Given the description of an element on the screen output the (x, y) to click on. 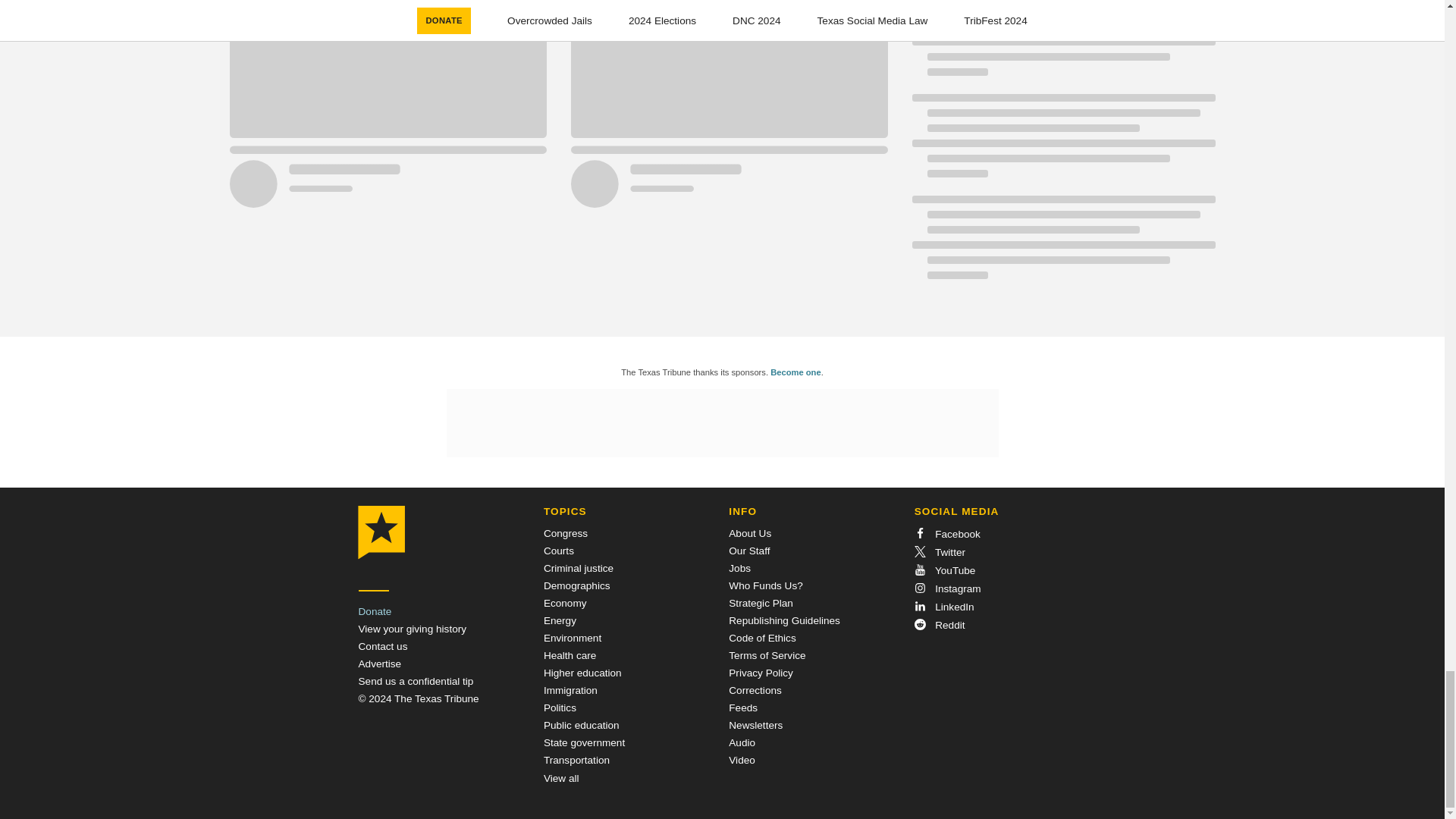
About Us (750, 532)
Feeds (743, 707)
Code of Ethics (761, 637)
Privacy Policy (761, 672)
Advertise (379, 663)
Donate (374, 611)
Newsletters (756, 725)
Send a Tip (415, 681)
View your giving history (411, 628)
Contact us (382, 645)
